Given the description of an element on the screen output the (x, y) to click on. 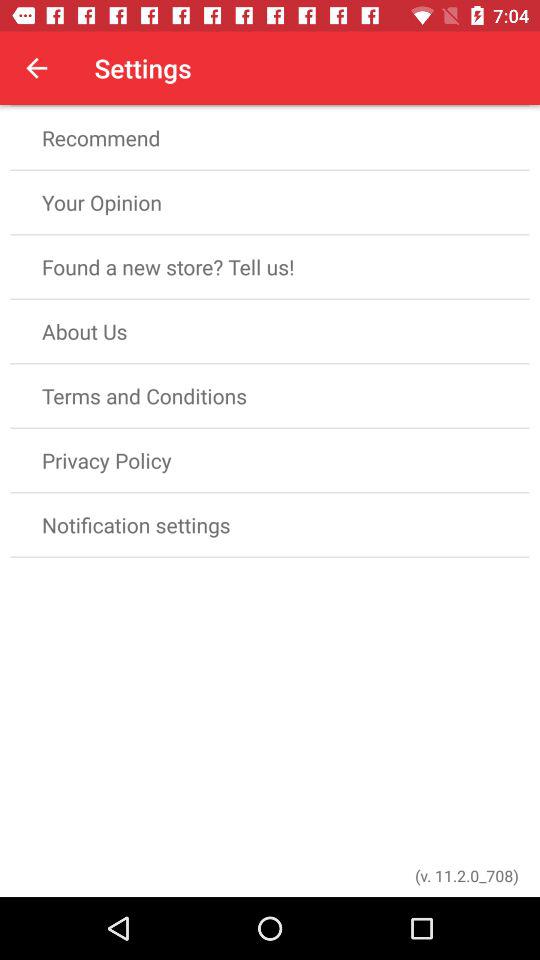
flip to the rate app (269, 73)
